Given the description of an element on the screen output the (x, y) to click on. 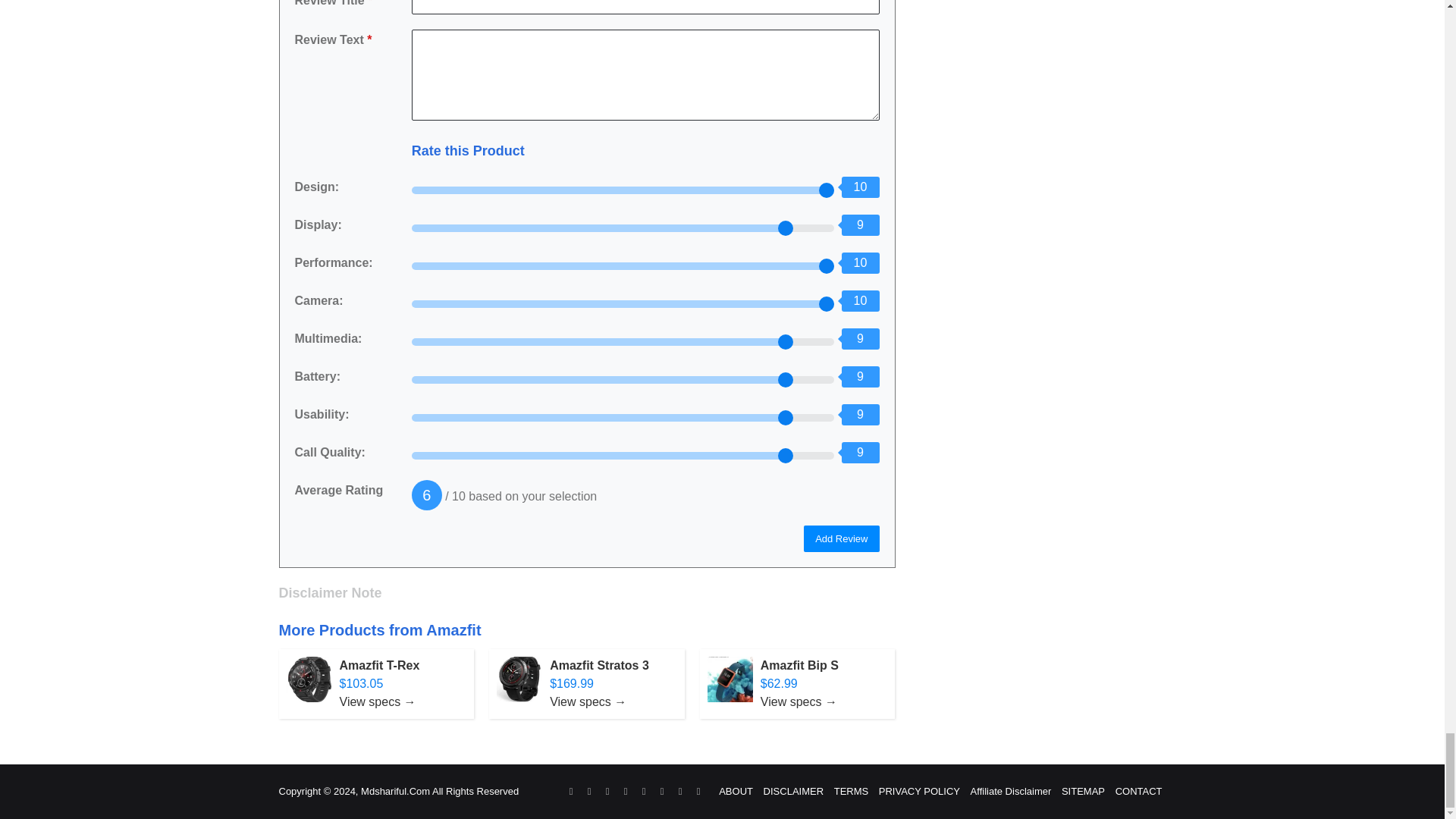
9 (623, 379)
9 (623, 455)
9 (623, 227)
9 (623, 417)
Add Review (841, 538)
10 (623, 266)
9 (623, 341)
10 (623, 190)
10 (623, 303)
